Given the description of an element on the screen output the (x, y) to click on. 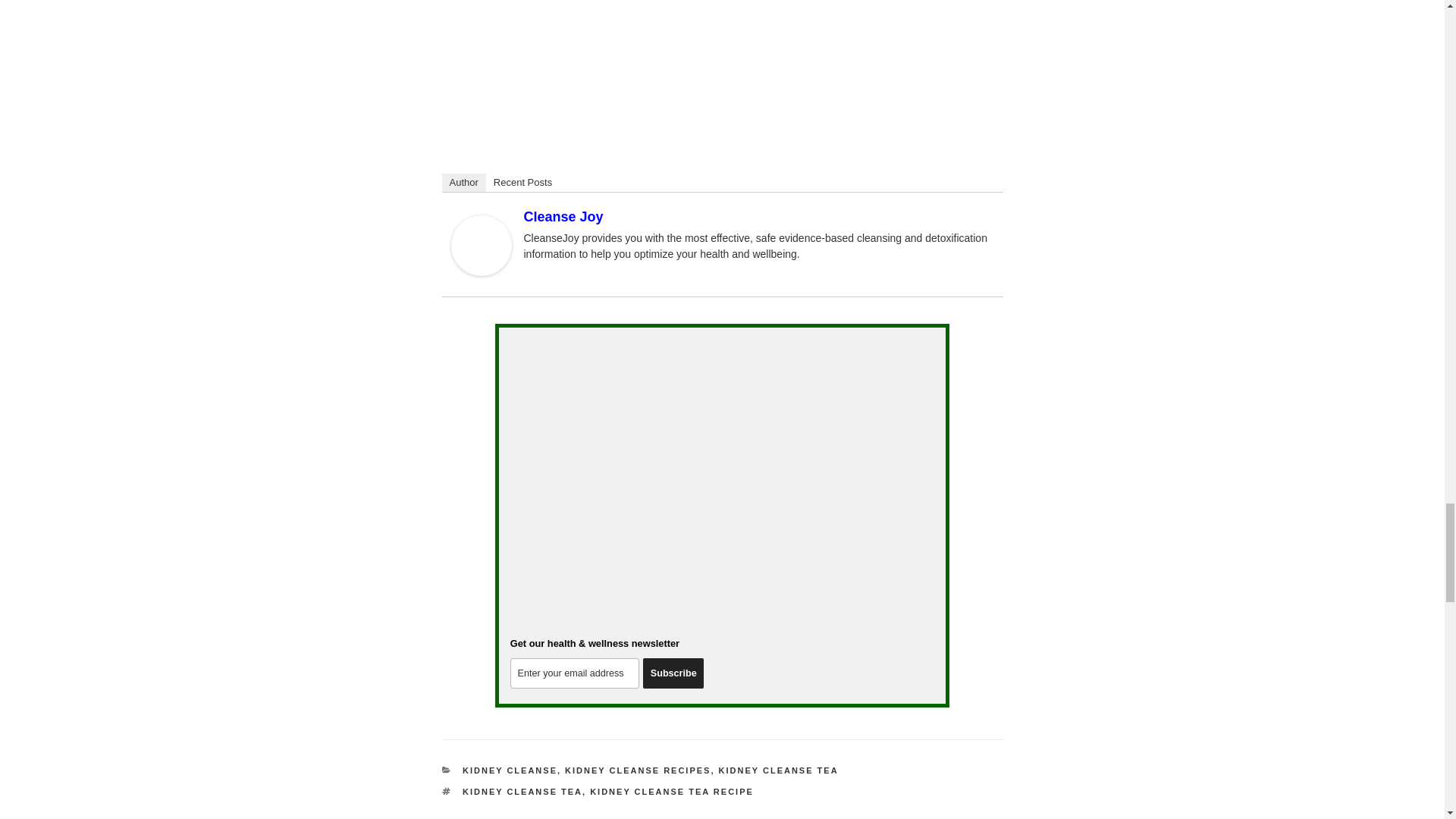
KIDNEY CLEANSE TEA (522, 791)
Subscribe (673, 673)
Cleanse Joy (562, 216)
KIDNEY CLEANSE (510, 769)
Cleanse Joy (480, 271)
KIDNEY CLEANSE RECIPES (637, 769)
Author (462, 182)
KIDNEY CLEANSE TEA (778, 769)
Subscribe (673, 673)
Recent Posts (522, 182)
